Given the description of an element on the screen output the (x, y) to click on. 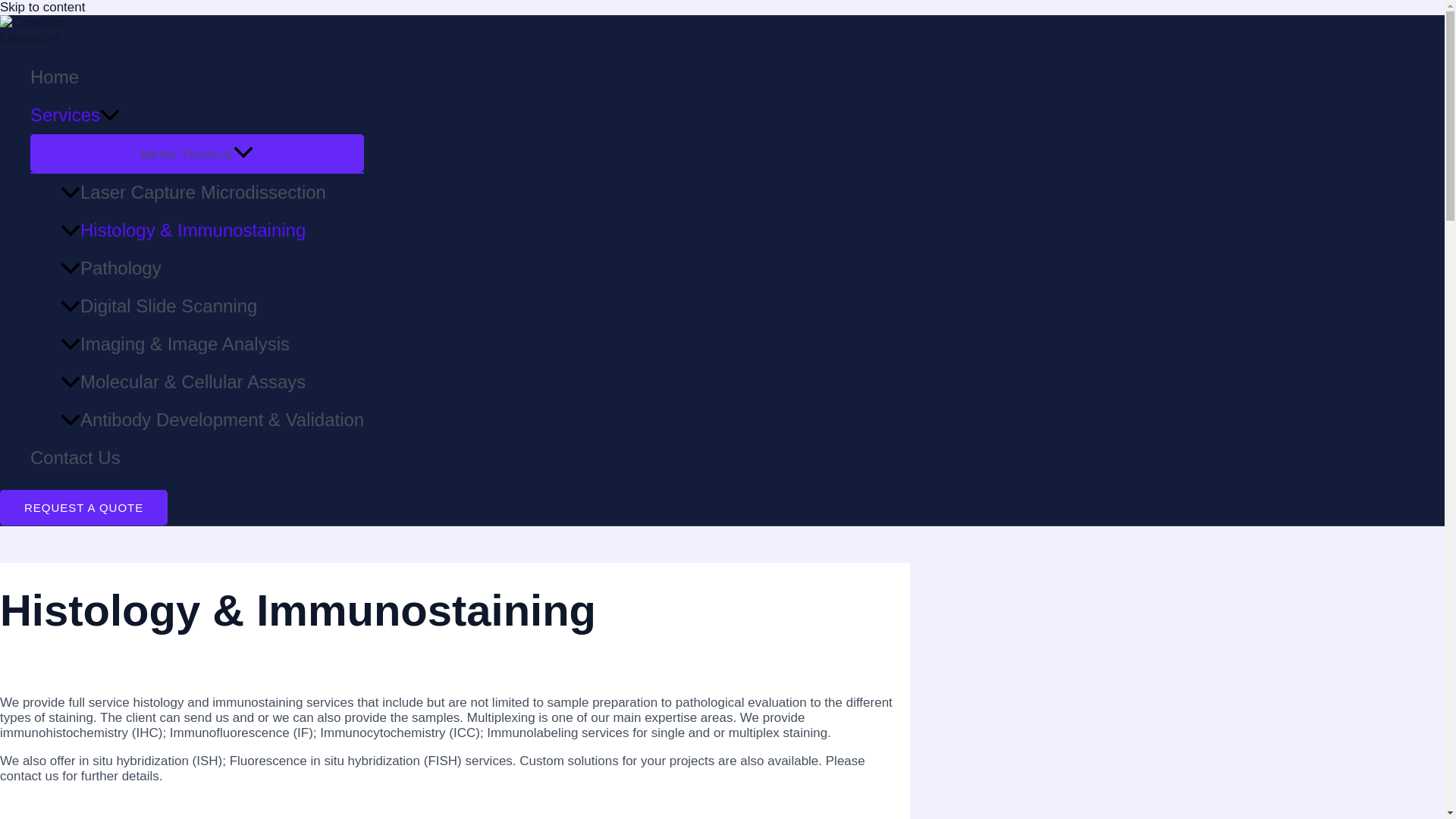
Services (197, 115)
Digital Slide Scanning (212, 306)
Contact Us (197, 457)
MENU TOGGLE (197, 152)
Skip to content (42, 7)
Home (197, 77)
REQUEST A QUOTE (83, 507)
Pathology (212, 268)
Skip to content (42, 7)
Laser Capture Microdissection (212, 192)
